Given the description of an element on the screen output the (x, y) to click on. 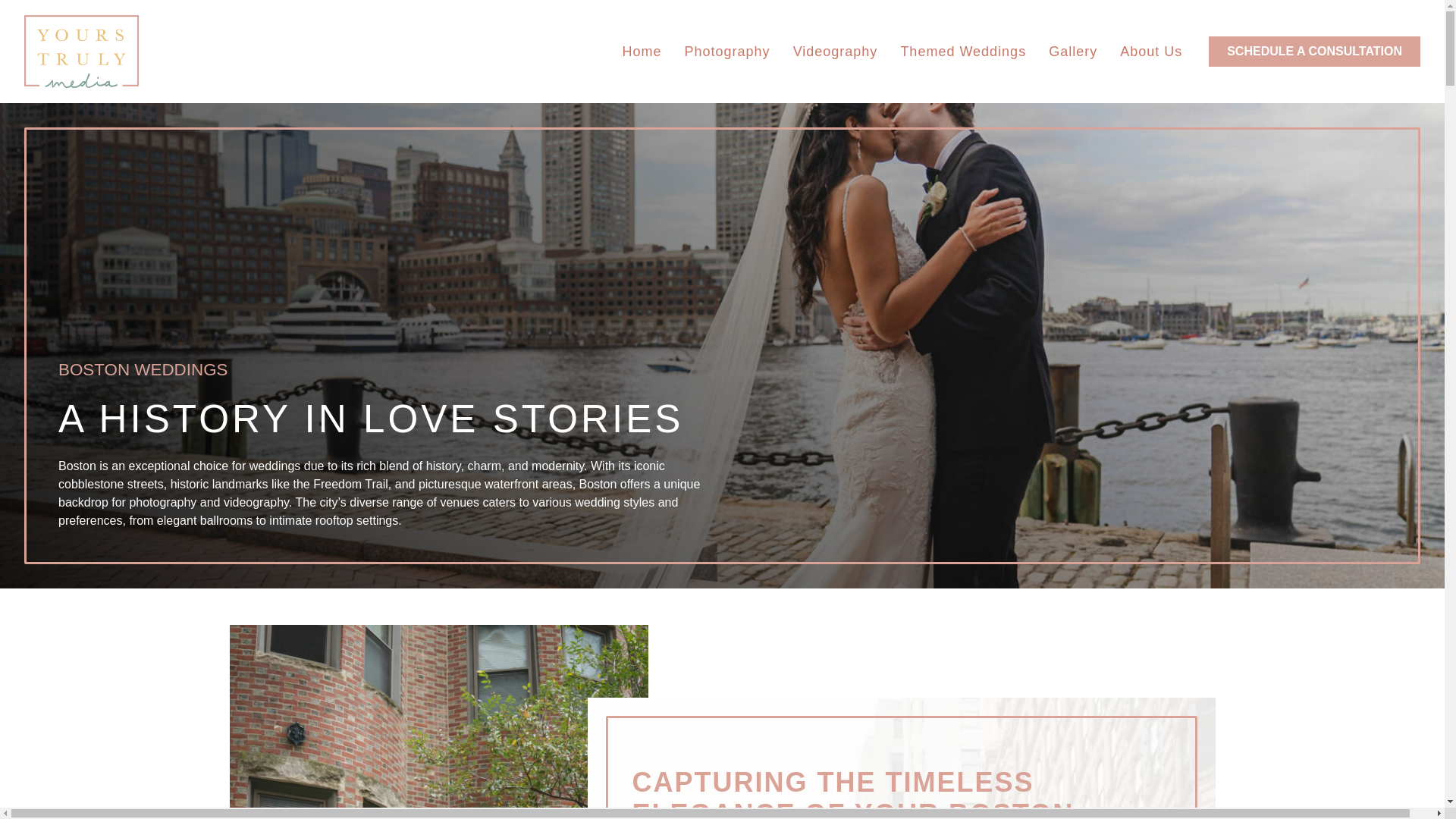
Gallery (1072, 51)
Videography (835, 51)
Home (641, 51)
Themed Weddings (962, 51)
About Us (1150, 51)
Photography (726, 51)
